Given the description of an element on the screen output the (x, y) to click on. 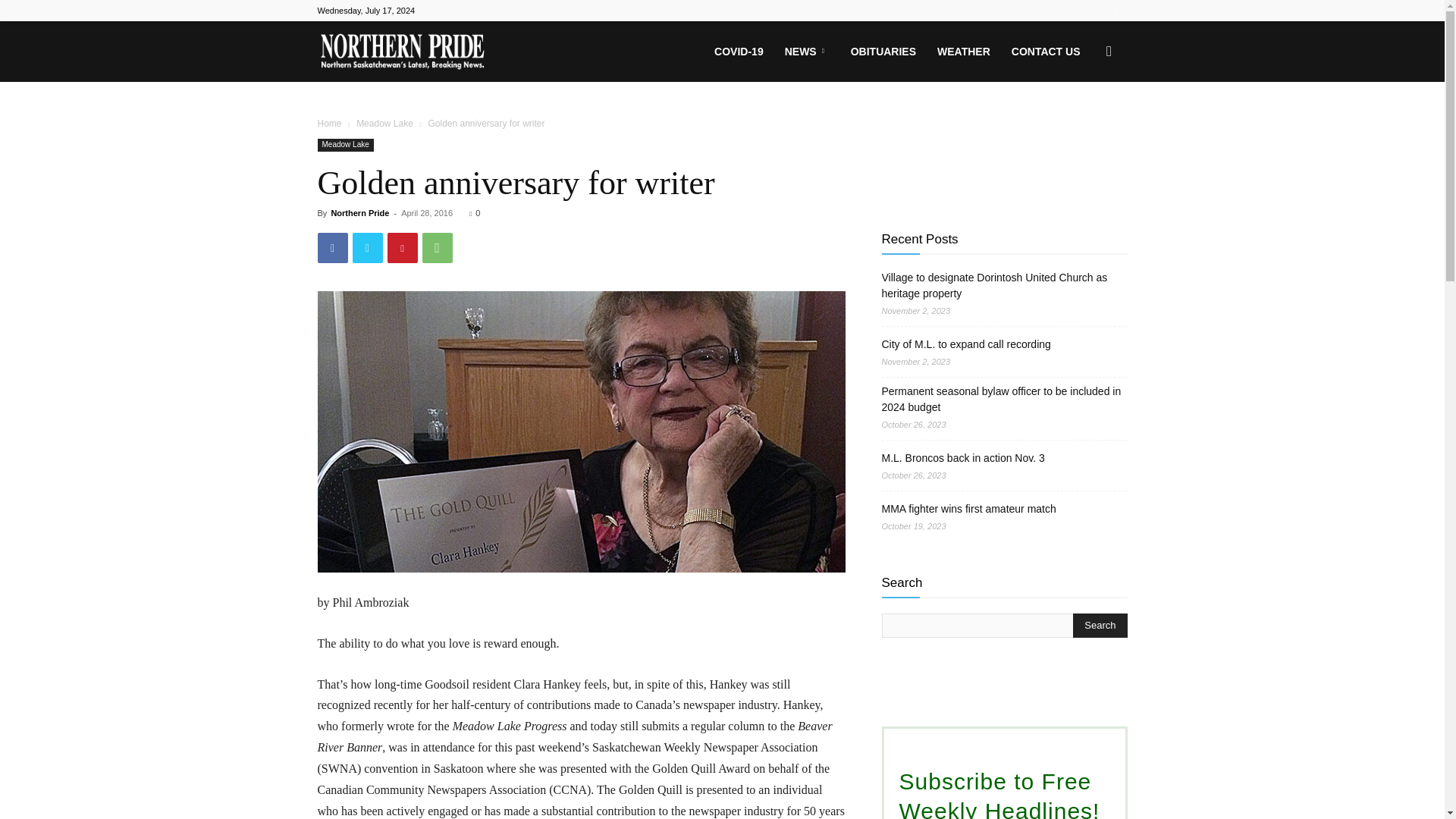
Meadow Lake (344, 144)
CONTACT US (1045, 51)
Northern Pride (359, 212)
NEWS (807, 51)
WhatsApp (436, 247)
Twitter (366, 247)
0 (474, 212)
Search (1099, 625)
Pinterest (401, 247)
Home (328, 122)
OBITUARIES (883, 51)
Facebook (332, 247)
COVID-19 (738, 51)
WEATHER (963, 51)
